Given the description of an element on the screen output the (x, y) to click on. 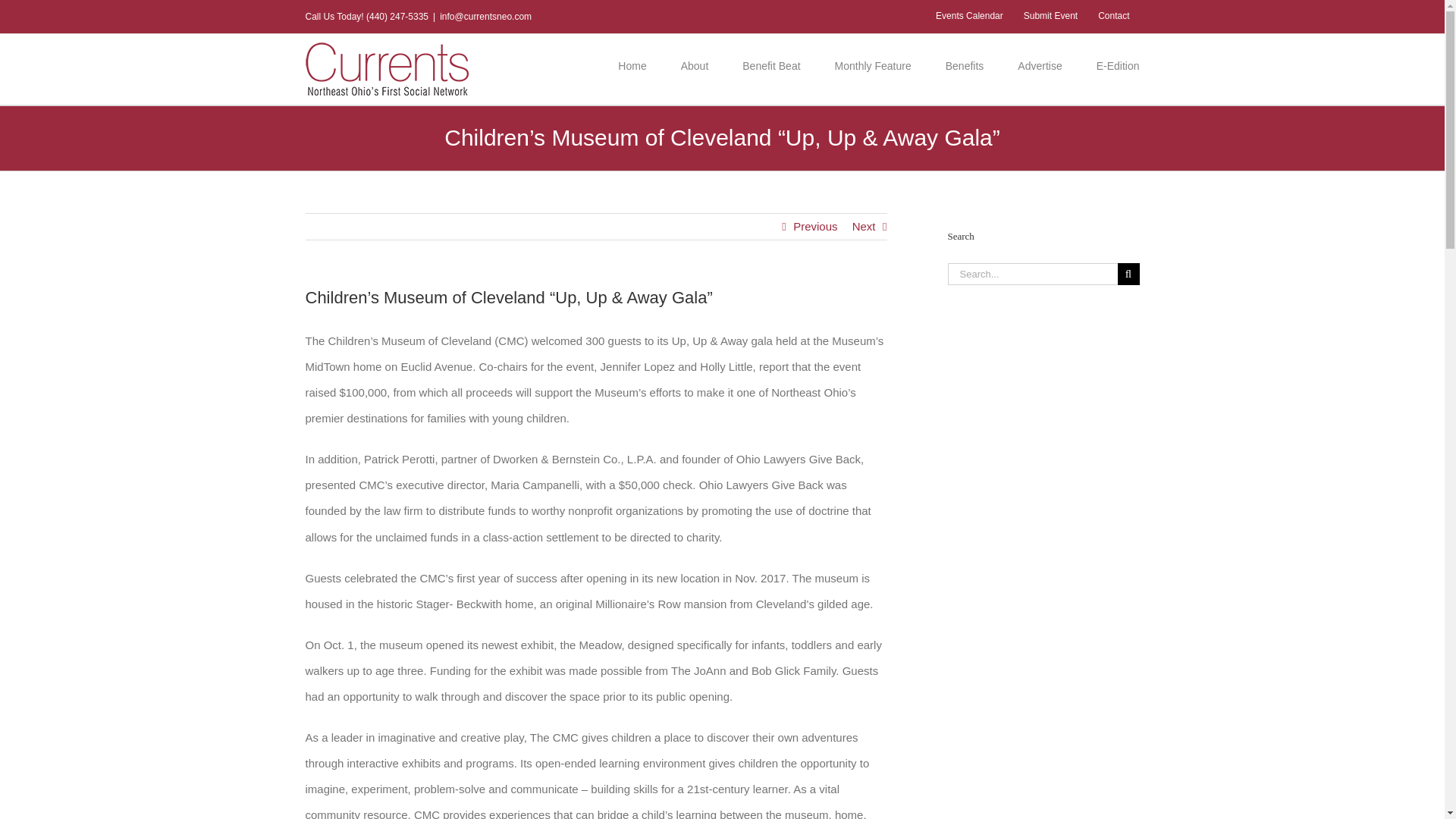
Events Calendar (969, 16)
Submit Event (1050, 16)
Contact (1112, 16)
Monthly Feature (872, 65)
Benefit Beat (770, 65)
Previous (815, 226)
Next (863, 226)
